Given the description of an element on the screen output the (x, y) to click on. 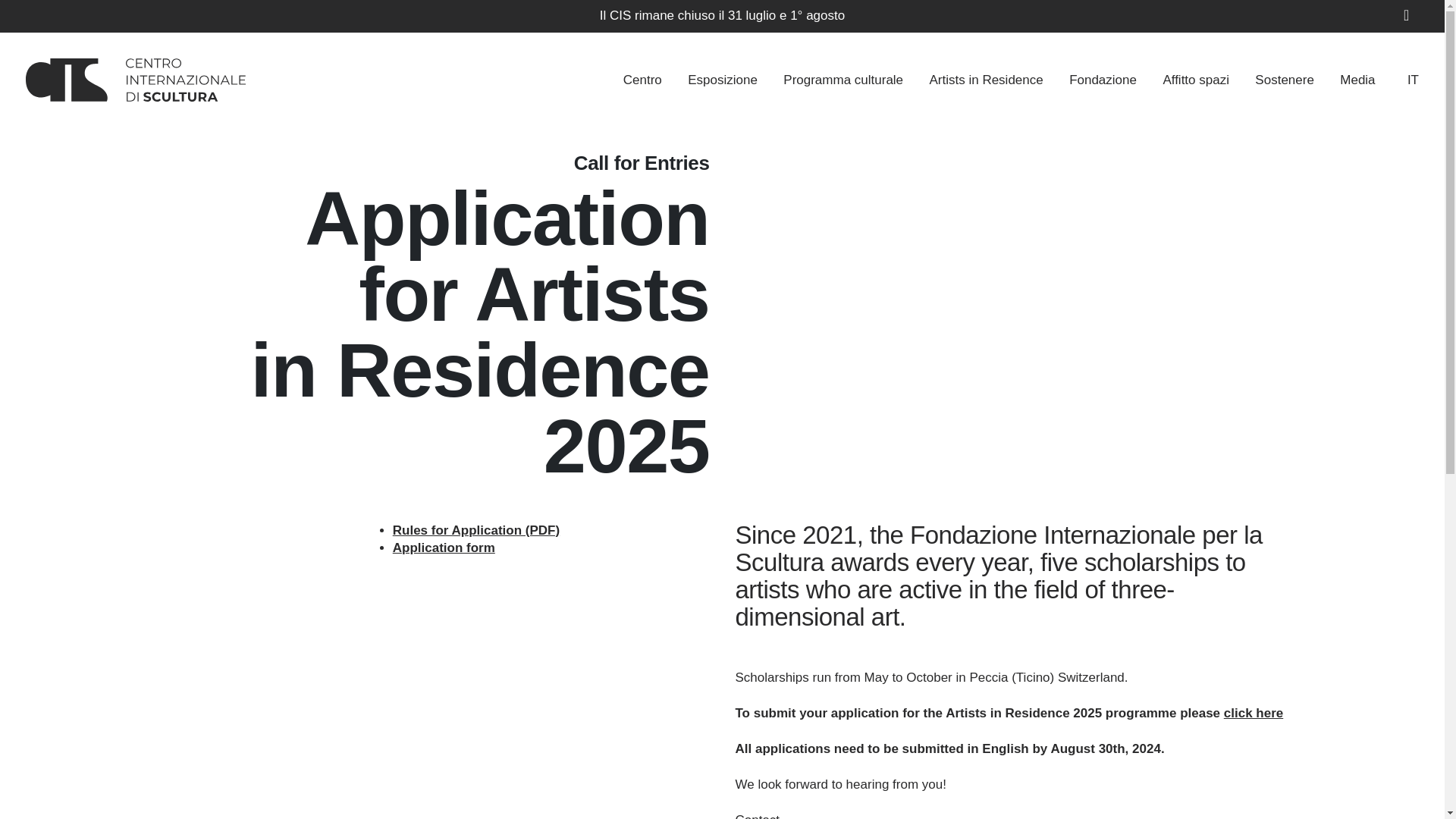
Artists in Residence (985, 79)
Programma culturale (842, 79)
Media (1356, 79)
Application form (444, 547)
Esposizione (722, 79)
Fondazione (1102, 79)
click here (1253, 712)
IT (1397, 79)
Affitto spazi (1194, 79)
Sostenere (1284, 79)
